Given the description of an element on the screen output the (x, y) to click on. 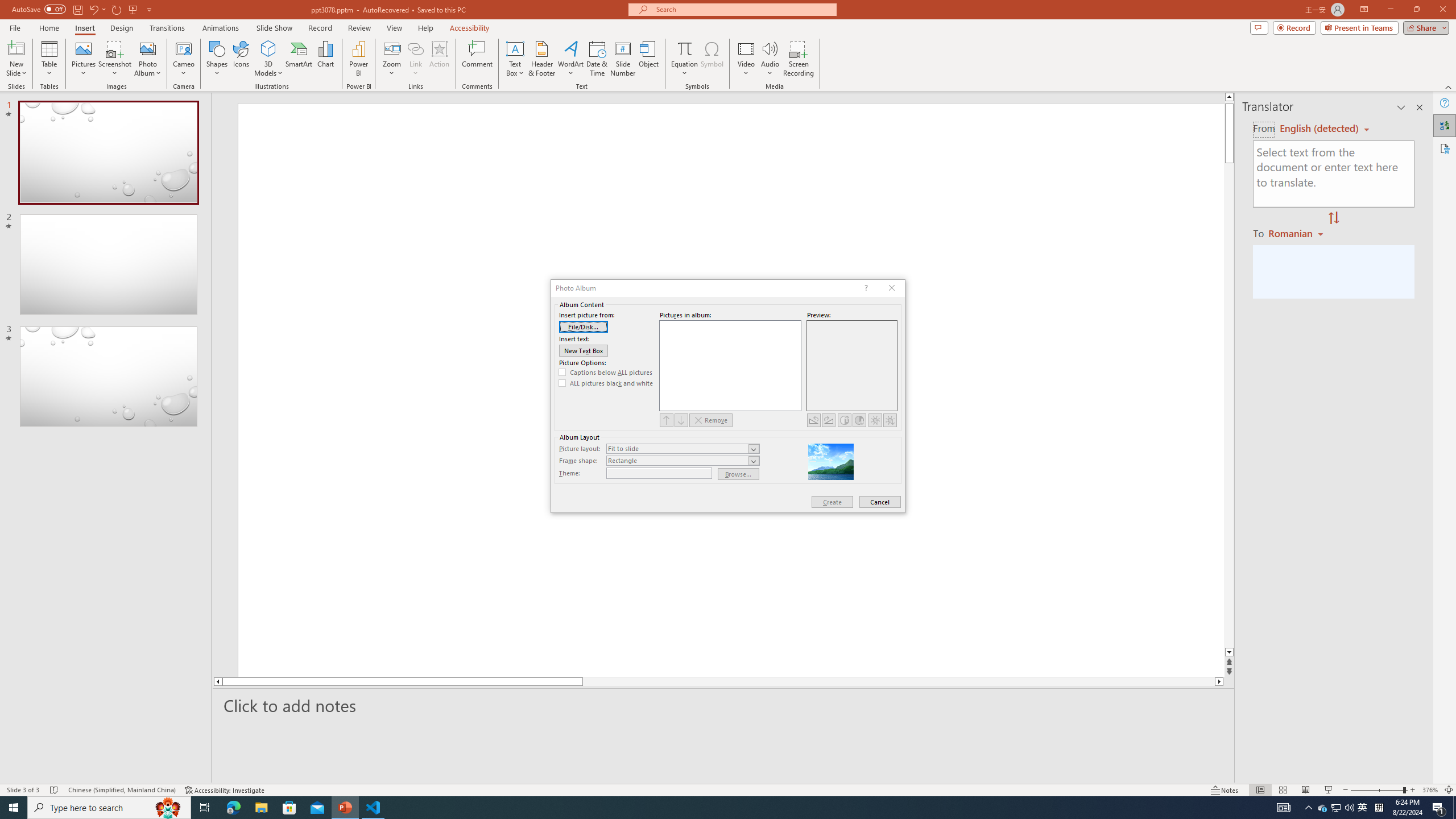
Icons (240, 58)
Screen Recording... (798, 58)
Previous Item (666, 419)
